Given the description of an element on the screen output the (x, y) to click on. 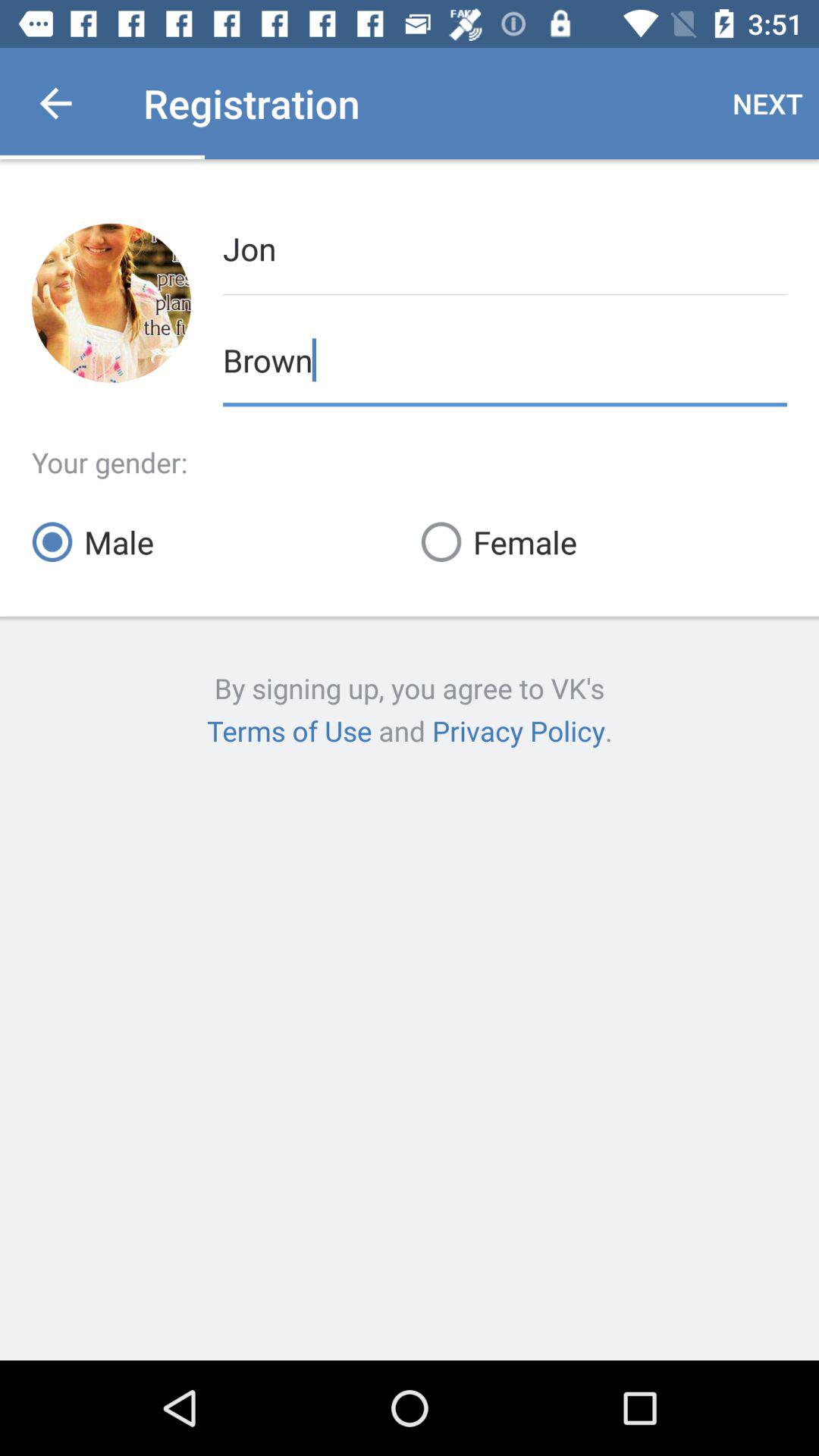
flip to the female item (603, 541)
